Given the description of an element on the screen output the (x, y) to click on. 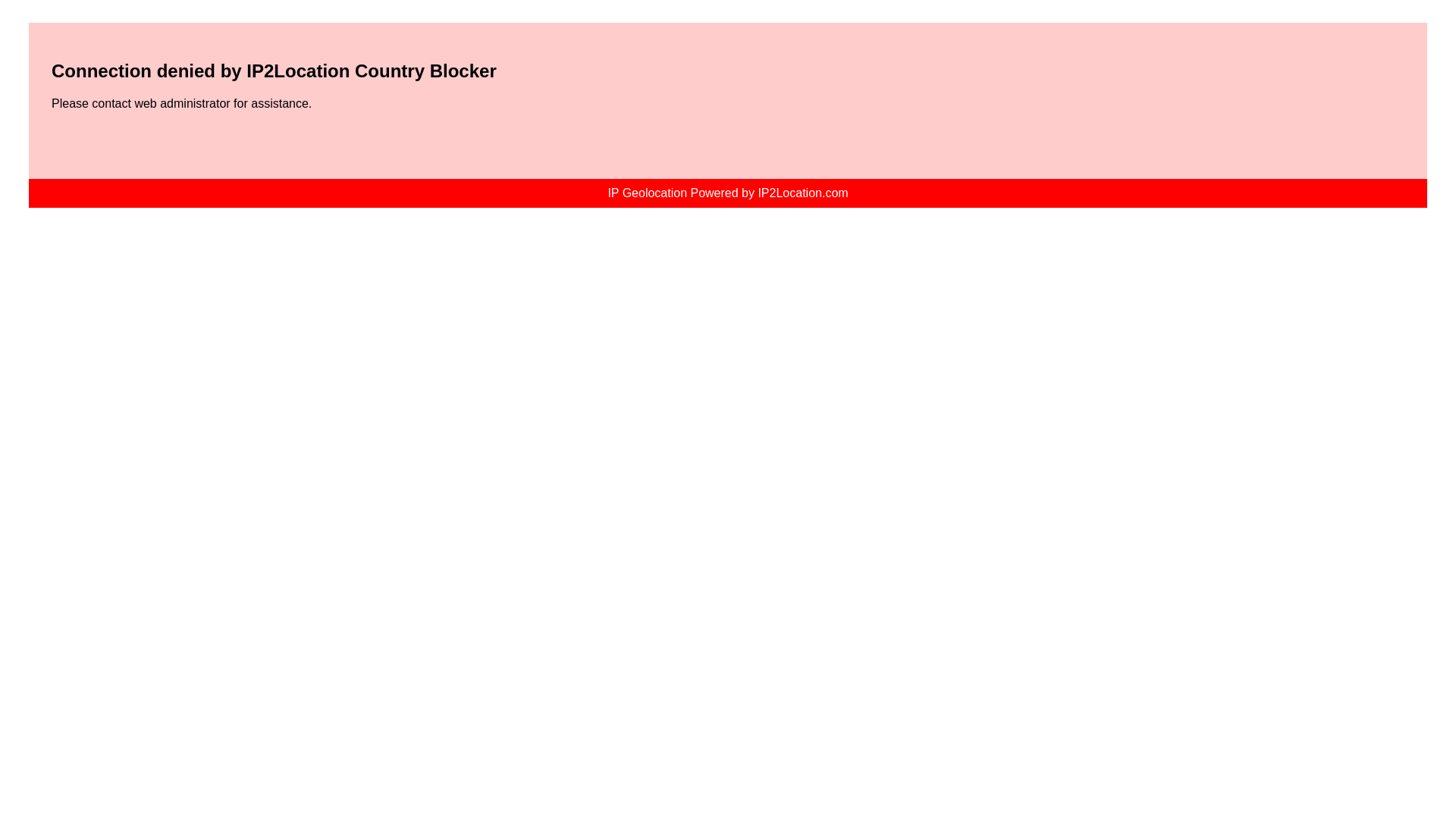
IP Geolocation Powered by IP2Location.com (727, 192)
